Given the description of an element on the screen output the (x, y) to click on. 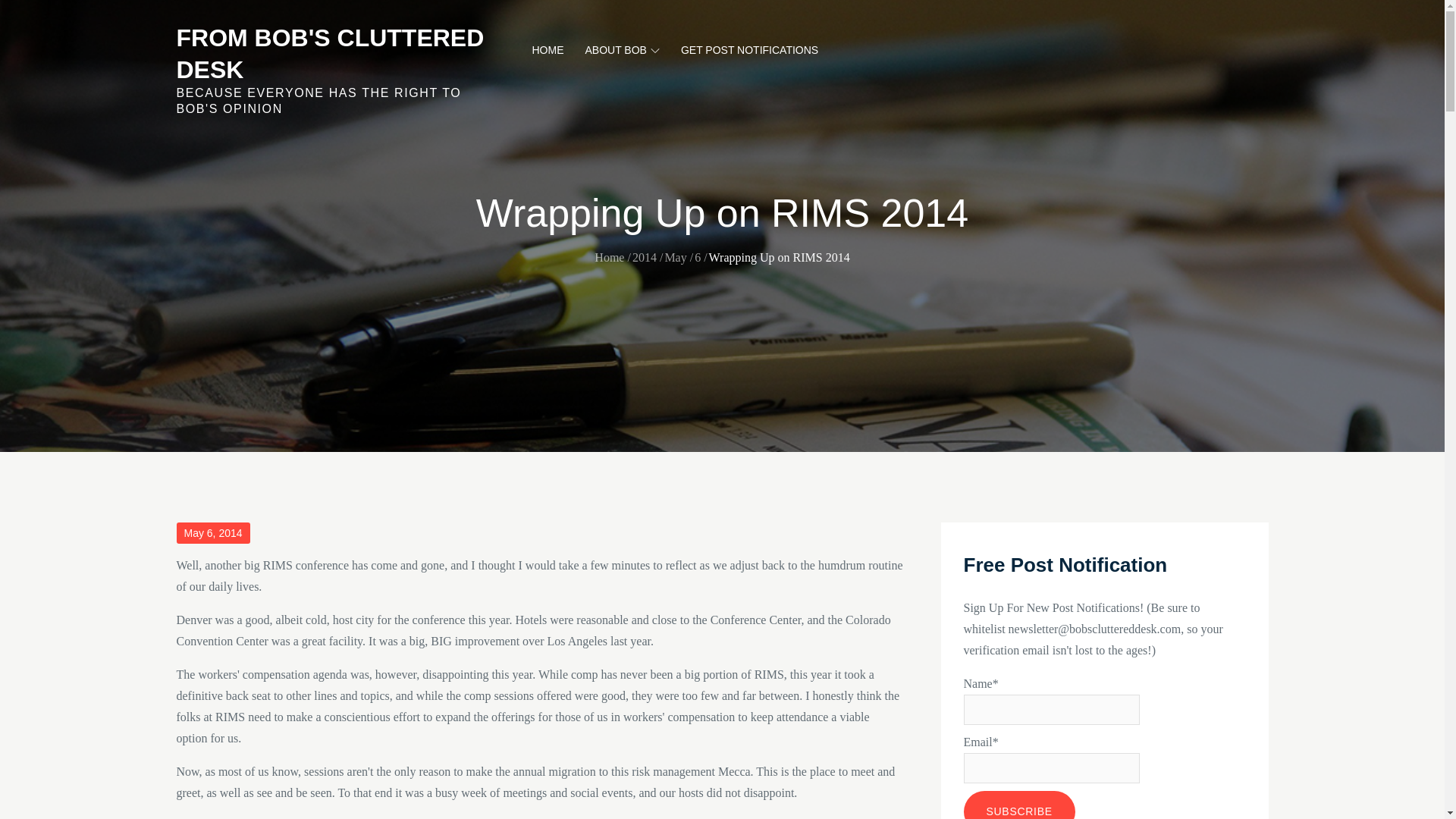
May (674, 256)
GET POST NOTIFICATIONS (749, 49)
HOME (547, 49)
May 6, 2014 (212, 532)
Subscribe (1018, 805)
ABOUT BOB (622, 49)
FROM BOB'S CLUTTERED DESK (329, 53)
Subscribe (1018, 805)
Home (609, 256)
2014 (643, 256)
